Given the description of an element on the screen output the (x, y) to click on. 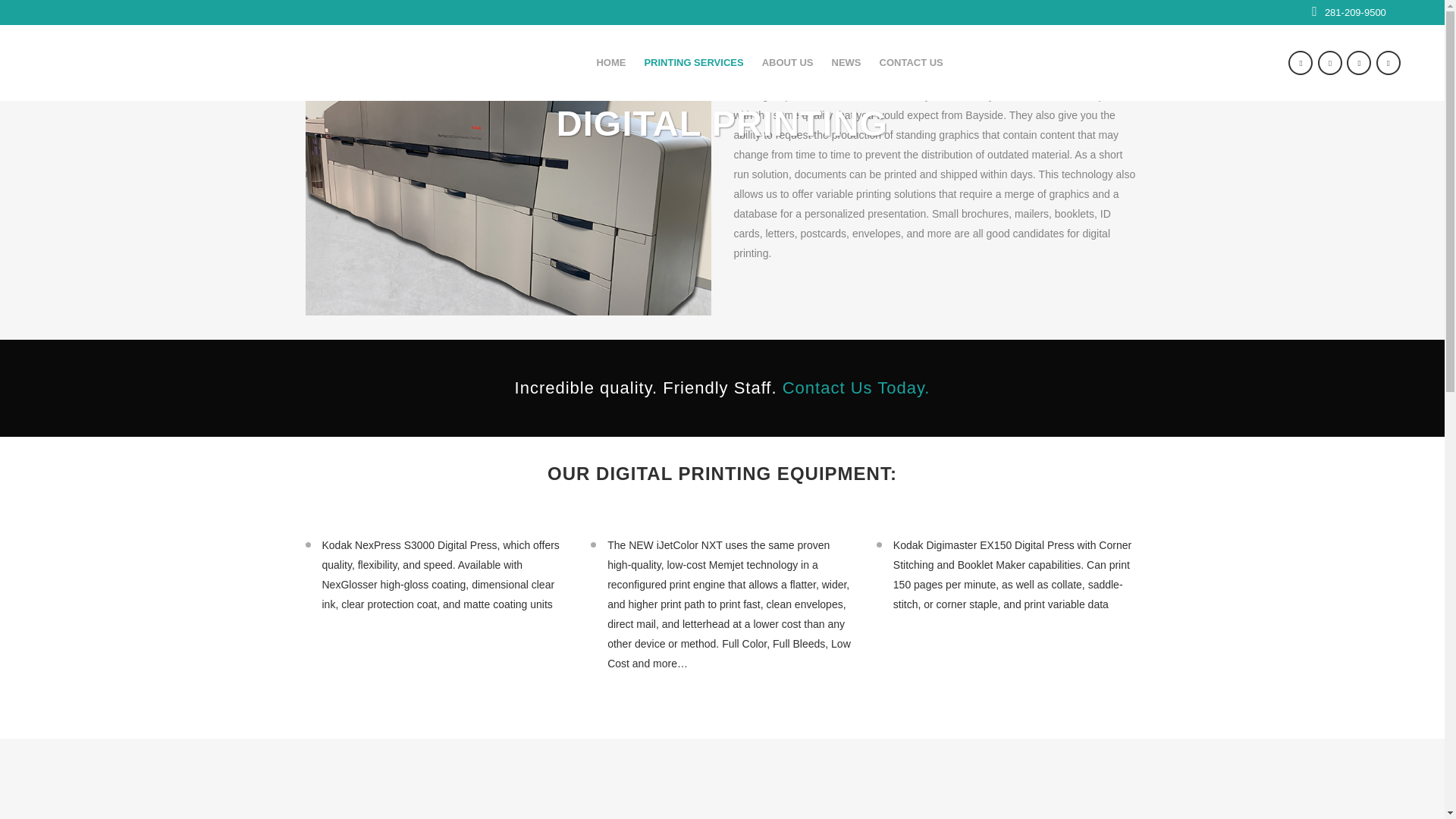
ABOUT US (787, 62)
PRINTING SERVICES (693, 62)
281-209-9500 (1355, 12)
DigitalPress (507, 187)
CONTACT US (911, 62)
Contact Us Today. (856, 387)
